Given the description of an element on the screen output the (x, y) to click on. 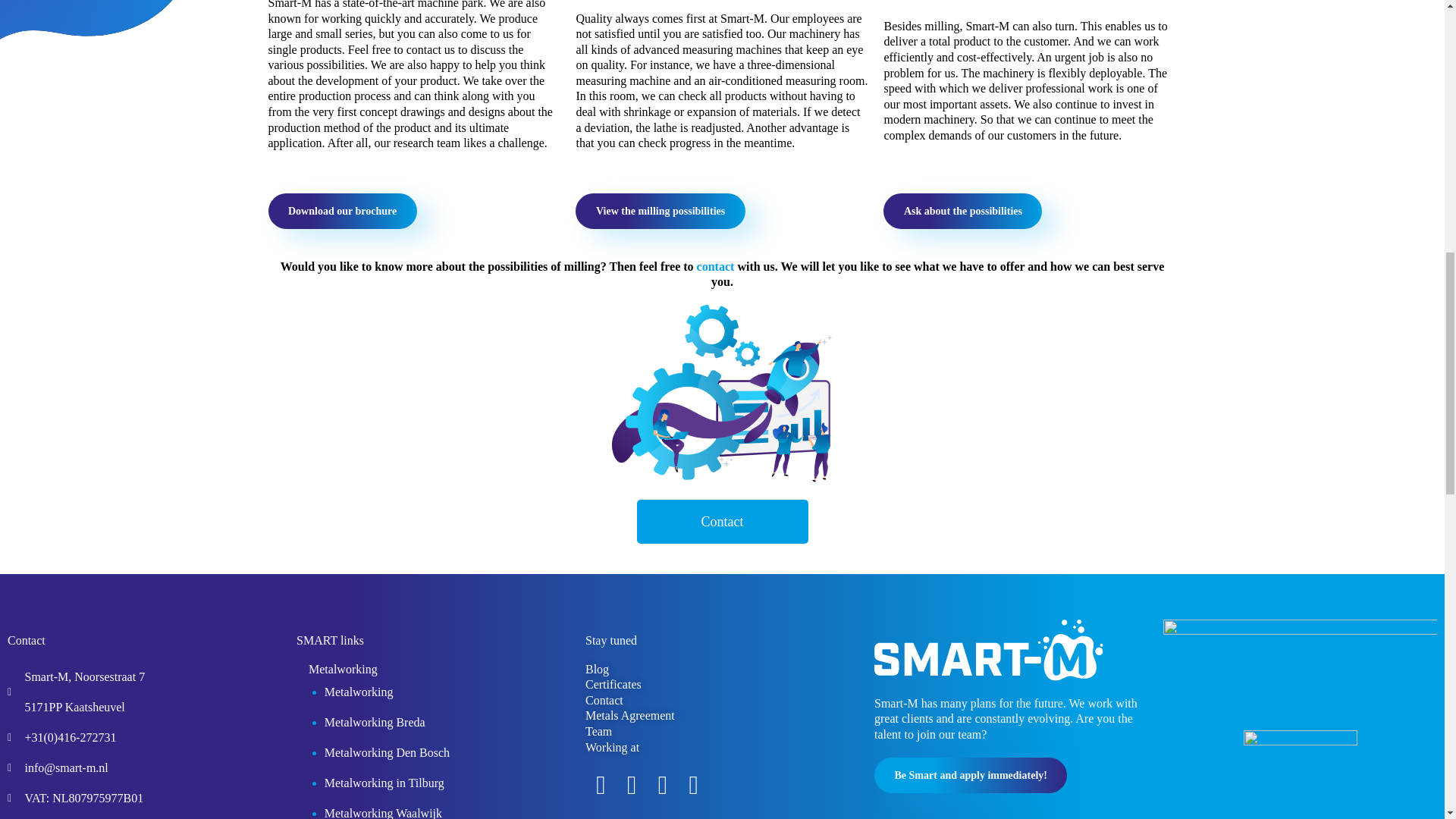
Metalworking (337, 672)
